Given the description of an element on the screen output the (x, y) to click on. 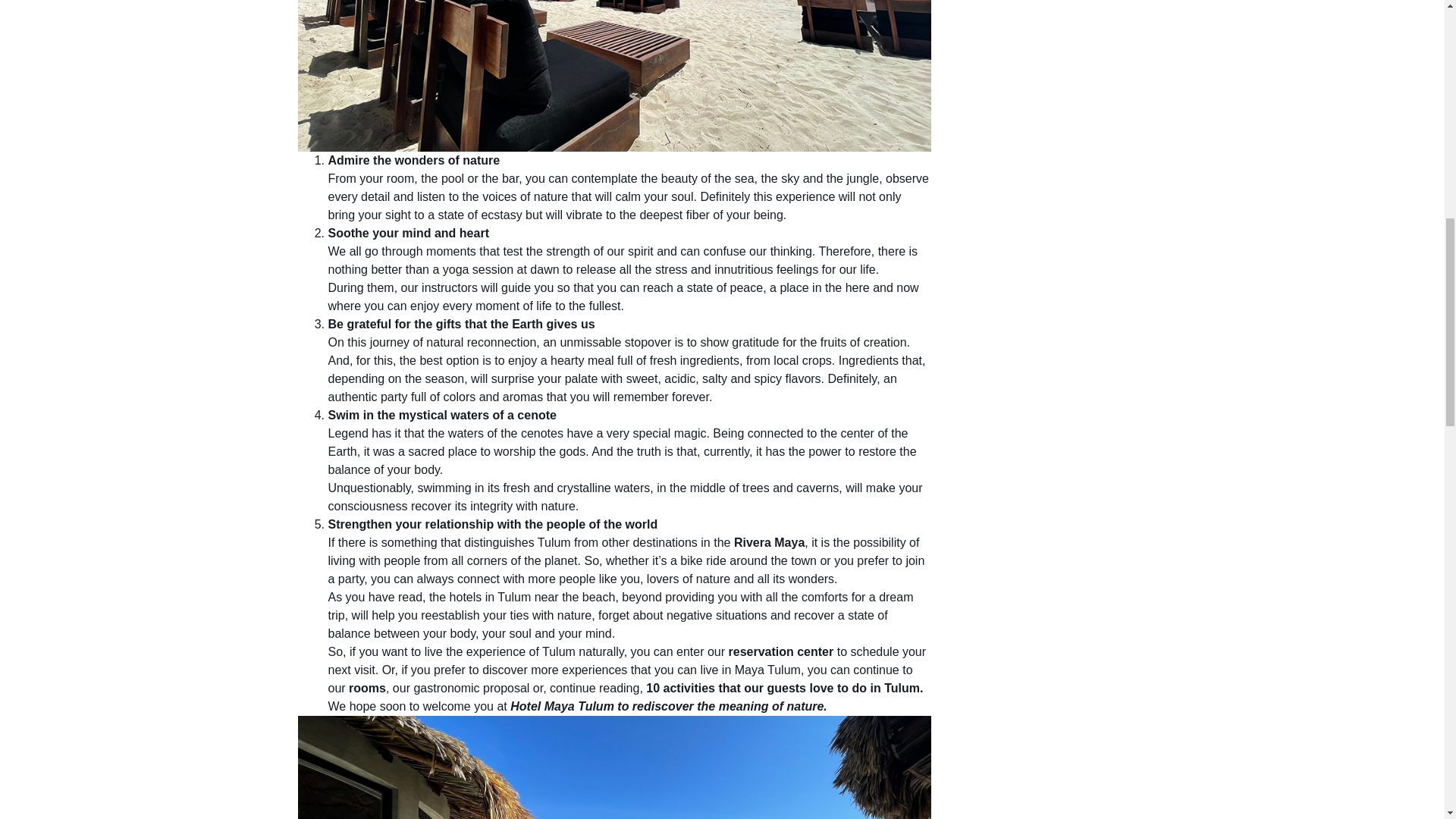
rooms (365, 687)
reservation center (780, 651)
10 activities that our guests love to do in Tulum. (784, 687)
Rivera Maya (769, 542)
